Given the description of an element on the screen output the (x, y) to click on. 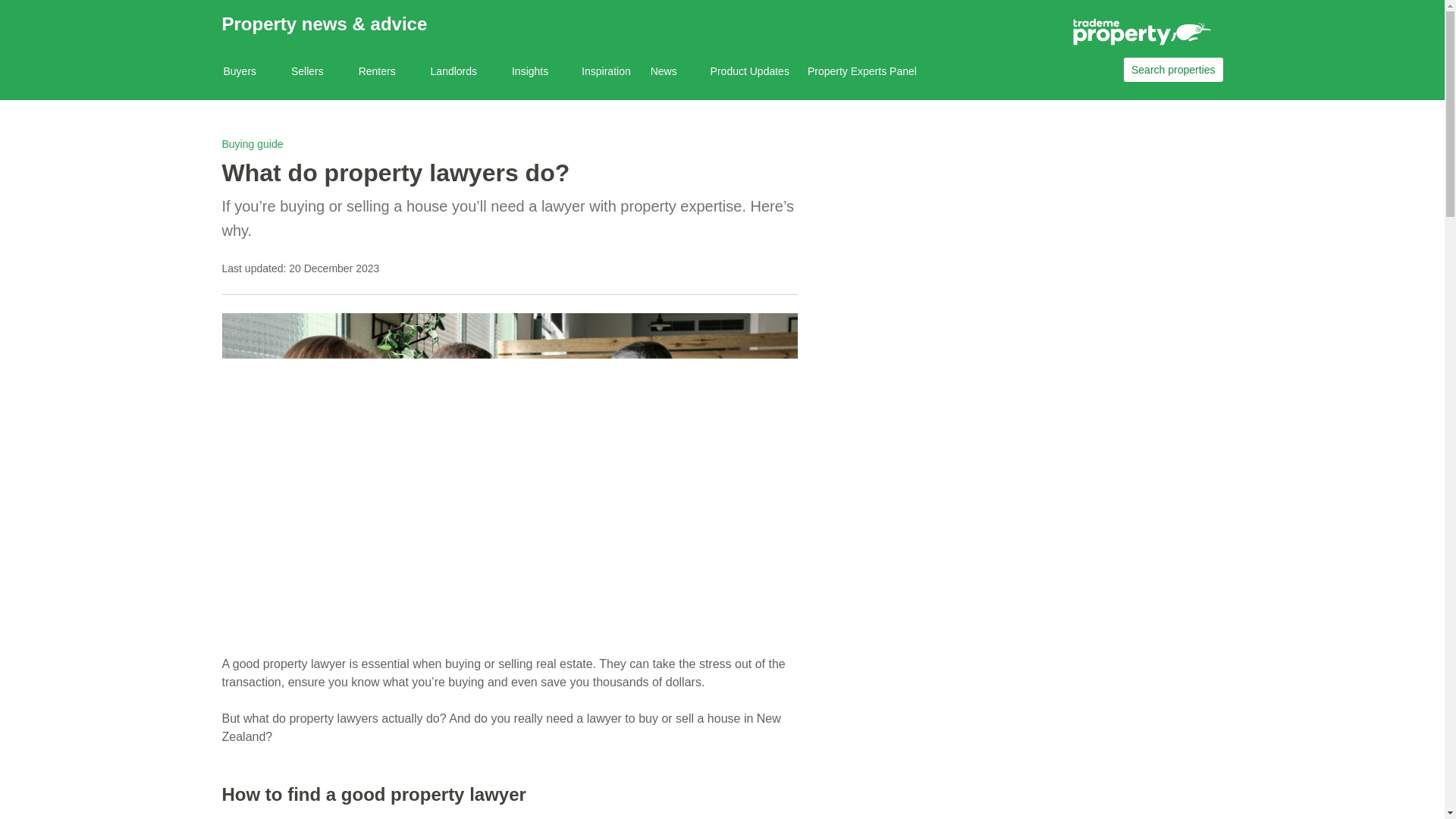
Landlords (463, 71)
Property Experts Panel (862, 71)
Sellers (317, 71)
Insights (540, 71)
Product Updates (749, 71)
Buyers (248, 71)
Inspiration (606, 71)
Renters (386, 71)
Search properties (1173, 69)
News (673, 71)
